Given the description of an element on the screen output the (x, y) to click on. 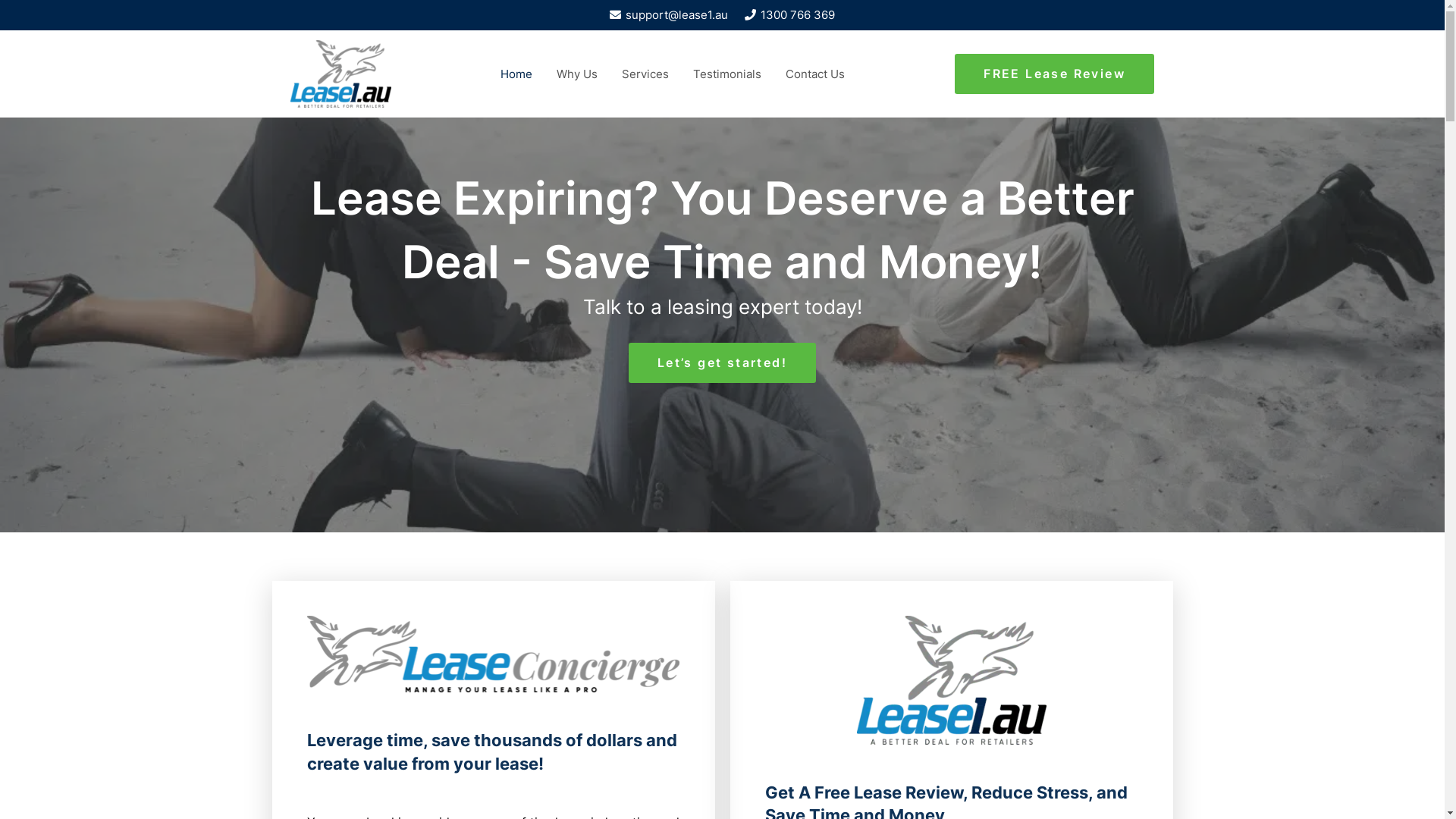
Services Element type: text (644, 73)
FREE Lease Review Element type: text (1054, 73)
Contact Us Element type: text (814, 73)
1300 766 369 Element type: text (789, 14)
Testimonials Element type: text (726, 73)
Why Us Element type: text (576, 73)
Home Element type: text (516, 73)
support@lease1.au Element type: text (668, 14)
